Given the description of an element on the screen output the (x, y) to click on. 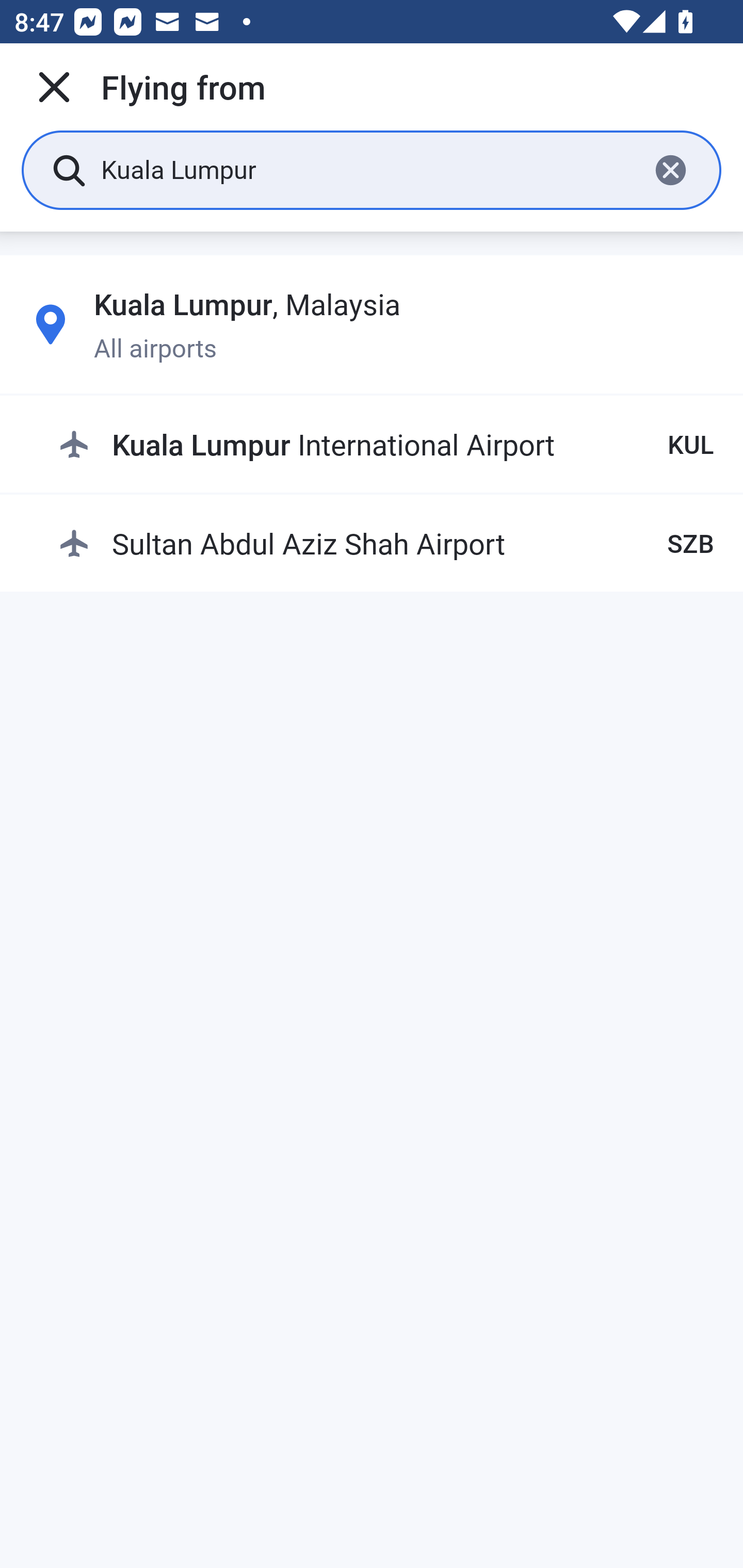
Kuala Lumpur (367, 169)
Kuala Lumpur, Malaysia All airports (371, 324)
Kuala Lumpur International Airport KUL (385, 444)
Sultan Abdul Aziz Shah Airport SZB (385, 543)
